Given the description of an element on the screen output the (x, y) to click on. 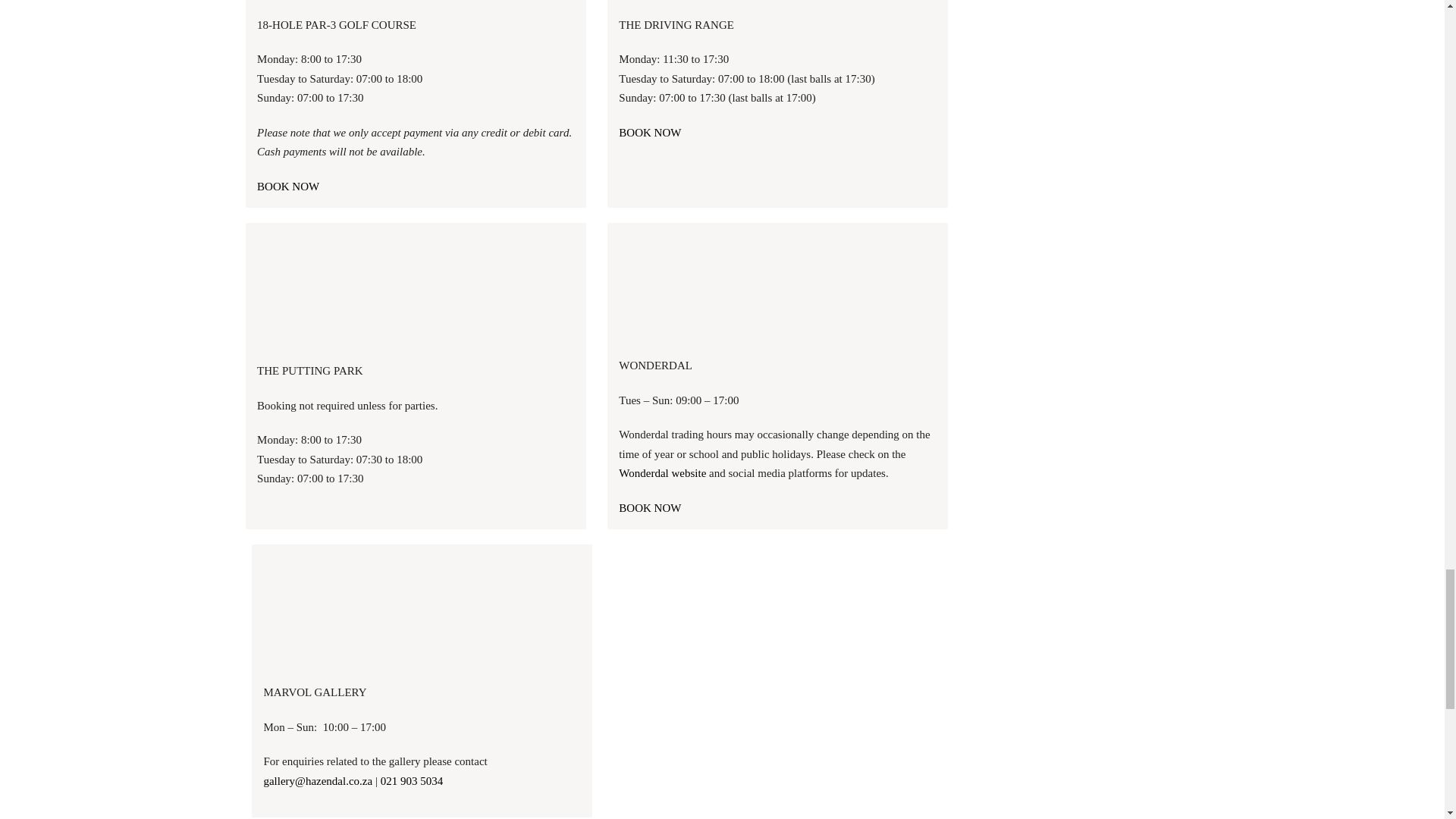
BOOK NOW (649, 508)
BOOK NOW (287, 186)
kleine hazen contact (416, 290)
wonderdal-bookings (769, 287)
BOOK NOW (649, 132)
Wonderdal website (662, 472)
021 903 5034 (412, 780)
